Given the description of an element on the screen output the (x, y) to click on. 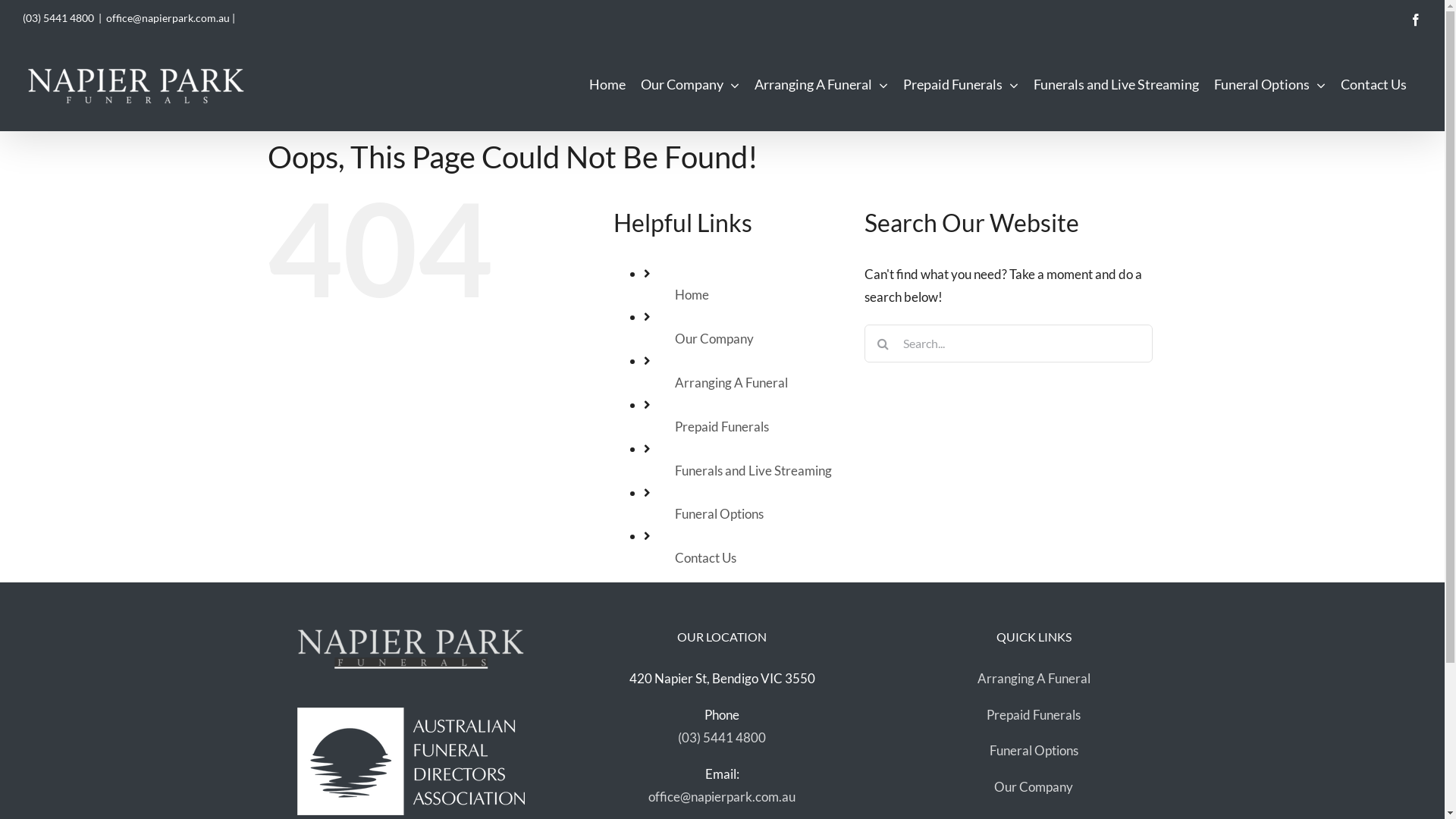
Our Company Element type: text (689, 83)
office@napierpark.com.au | Element type: text (170, 17)
Our Company Element type: text (1033, 786)
Funeral Options Element type: text (718, 513)
Our Company Element type: text (713, 338)
Home Element type: text (691, 294)
Funeral Options Element type: text (1269, 83)
office@napierpark.com.au Element type: text (721, 796)
Facebook Element type: text (1415, 19)
Funeral Options Element type: text (1033, 750)
Home Element type: text (607, 83)
Arranging A Funeral Element type: text (821, 83)
Funerals and Live Streaming Element type: text (1115, 83)
(03) 5441 4800 Element type: text (58, 17)
Funerals and Live Streaming Element type: text (752, 470)
Contact Us Element type: text (1373, 83)
Contact Us Element type: text (705, 557)
Prepaid Funerals Element type: text (1033, 714)
Arranging A Funeral Element type: text (730, 382)
Prepaid Funerals Element type: text (960, 83)
Prepaid Funerals Element type: text (721, 426)
Arranging A Funeral Element type: text (1033, 678)
(03) 5441 4800 Element type: text (721, 737)
